Given the description of an element on the screen output the (x, y) to click on. 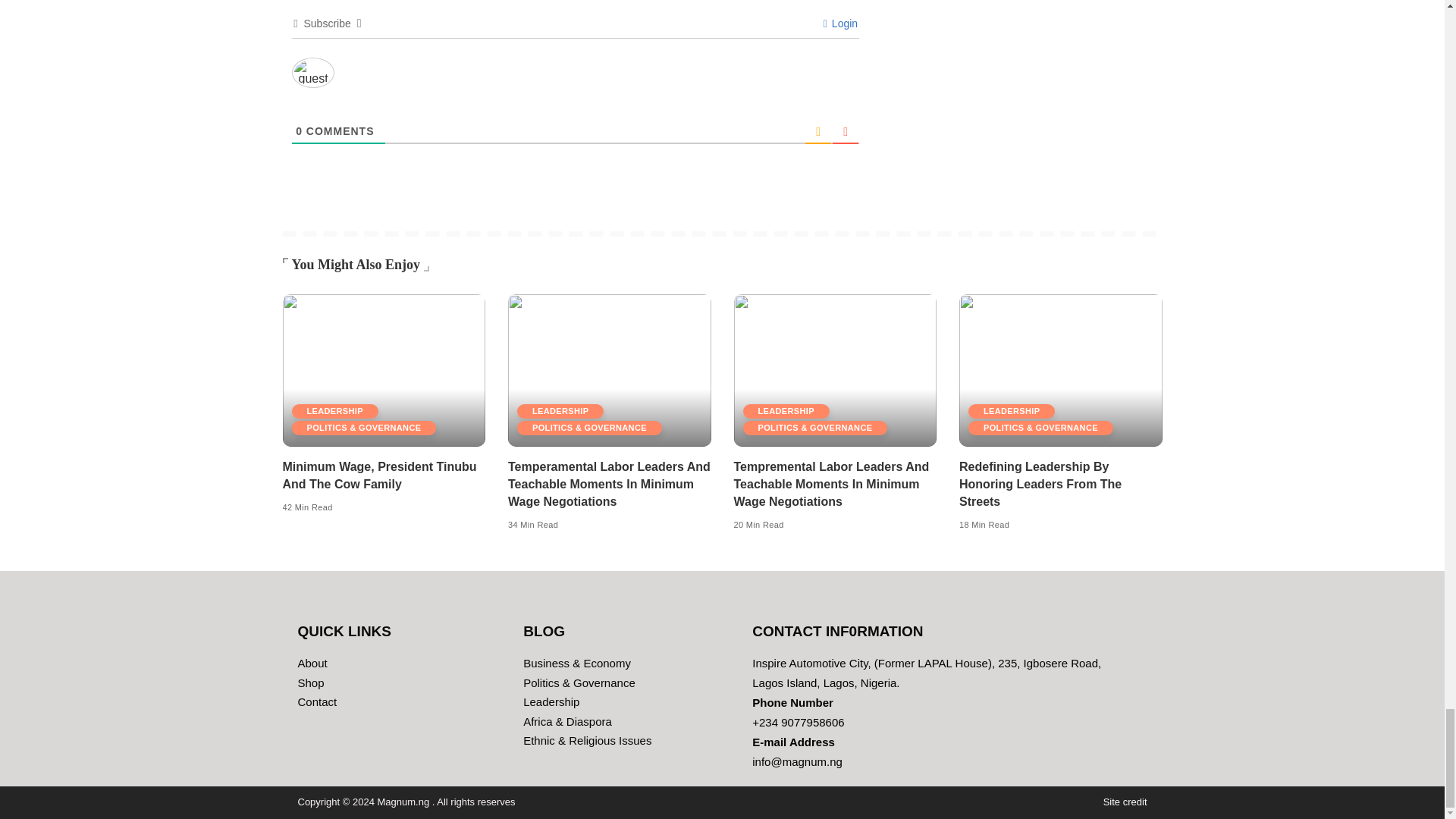
Login (840, 23)
